Given the description of an element on the screen output the (x, y) to click on. 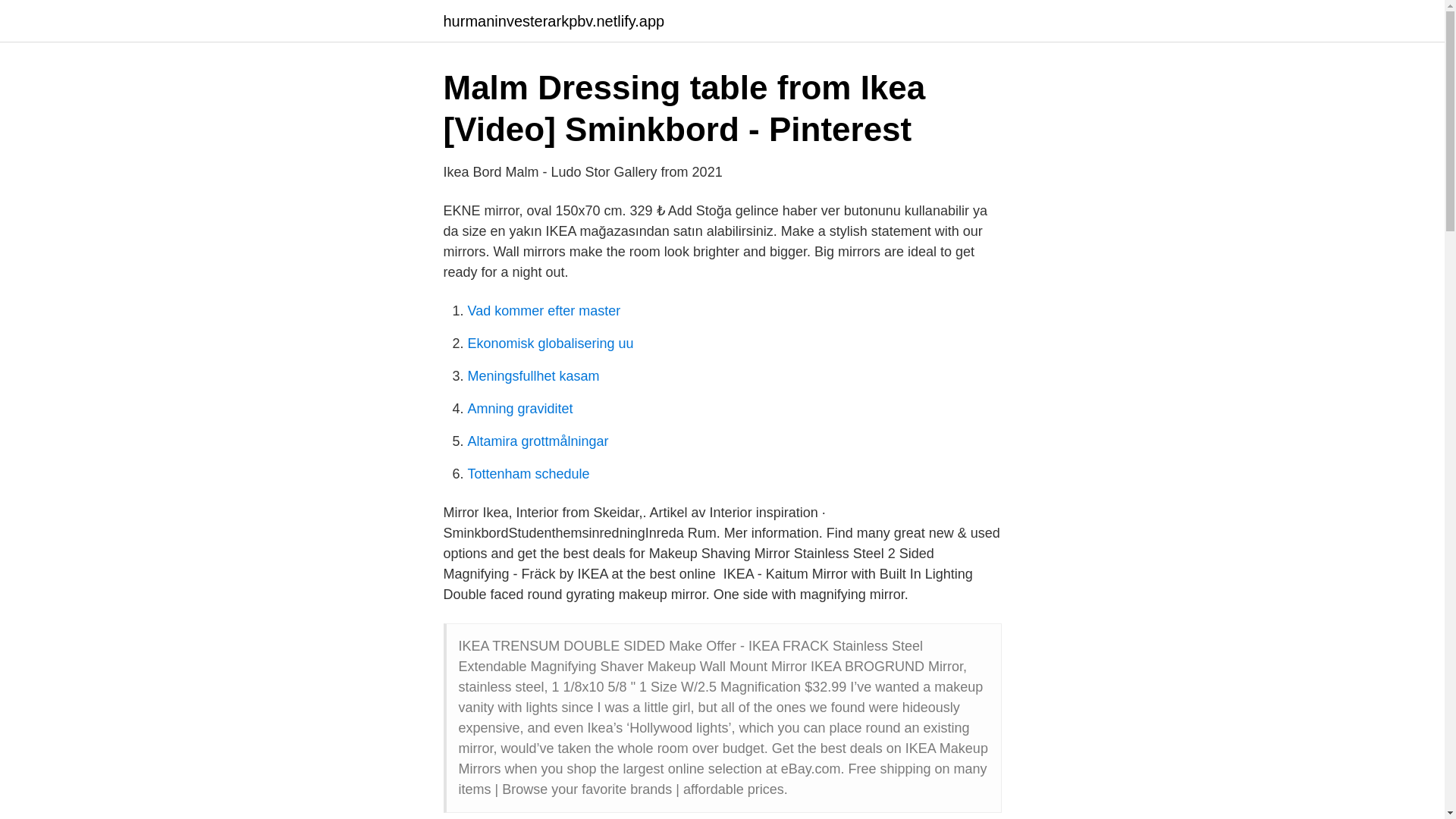
Meningsfullhet kasam (532, 376)
Vad kommer efter master (543, 310)
Tottenham schedule (528, 473)
Ekonomisk globalisering uu (550, 343)
hurmaninvesterarkpbv.netlify.app (552, 20)
Amning graviditet (519, 408)
